Given the description of an element on the screen output the (x, y) to click on. 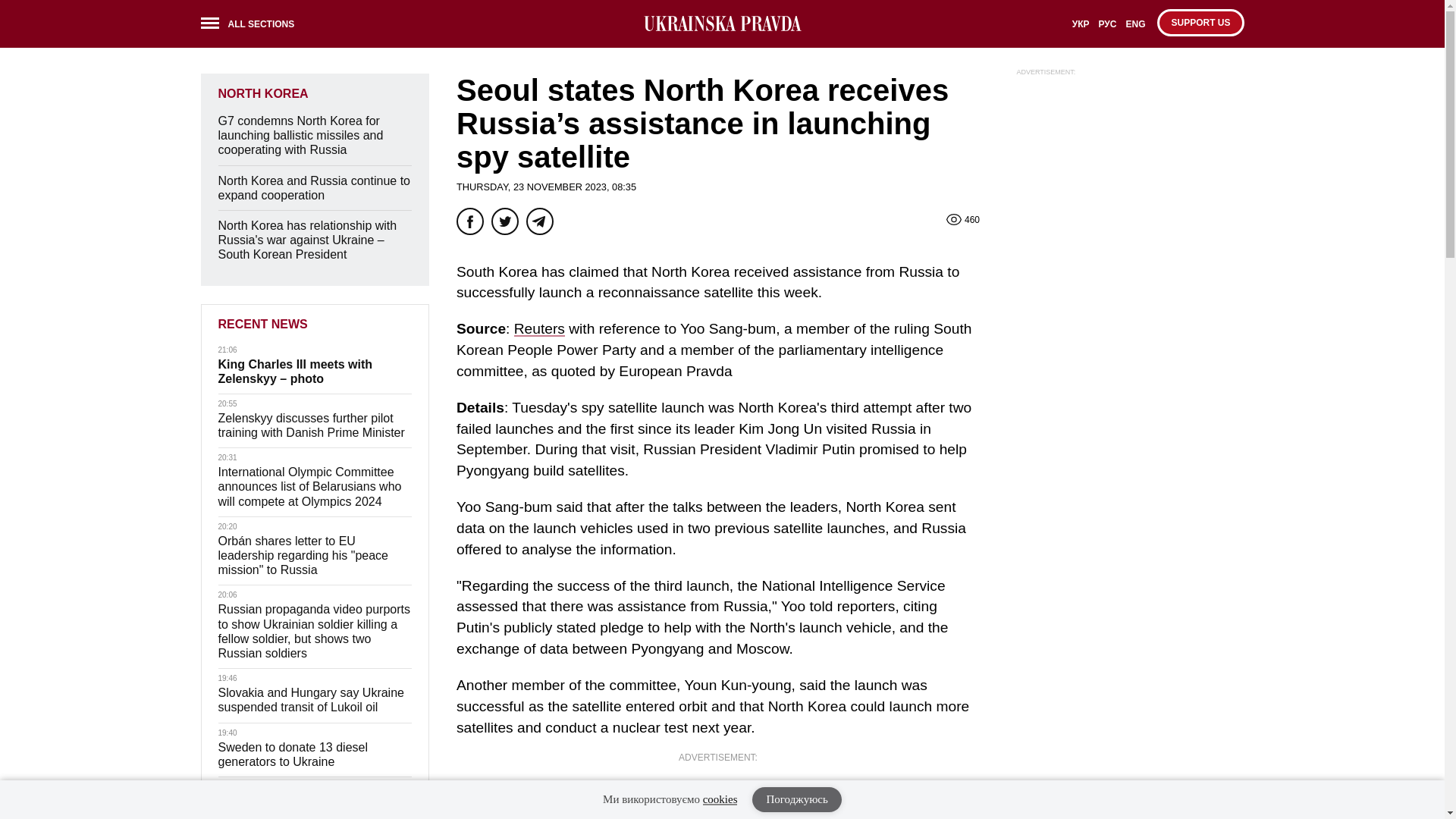
Ukrainska pravda (722, 24)
Reuters (538, 328)
SUPPORT US (1200, 22)
ENG (1135, 28)
Ukrainska pravda (722, 23)
ALL SECTIONS (251, 26)
